Given the description of an element on the screen output the (x, y) to click on. 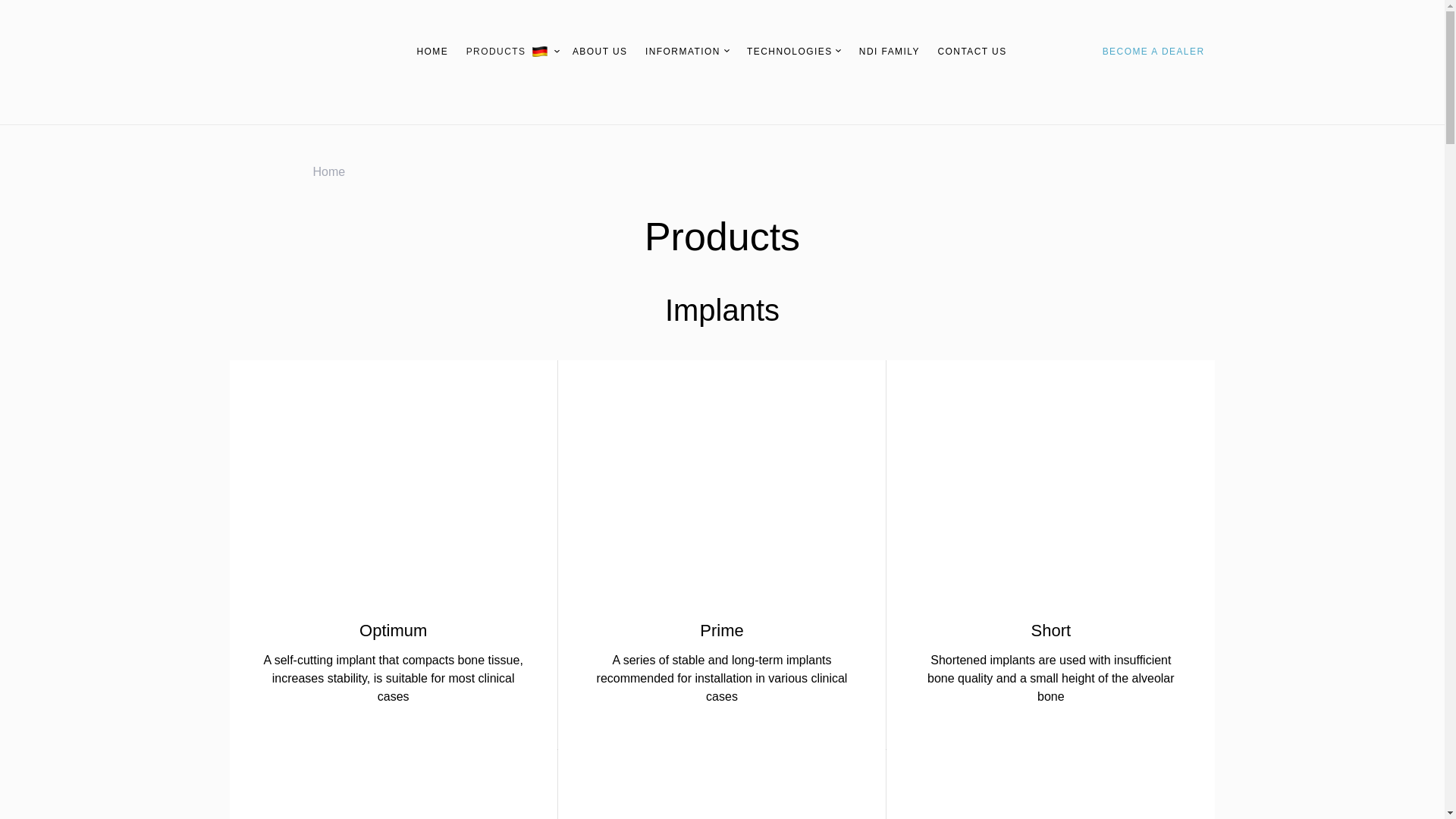
CONTACT US (971, 51)
TECHNOLOGIES (793, 51)
HOME (431, 51)
ABOUT US (600, 51)
BECOME A DEALER (1153, 51)
NDI FAMILY (888, 51)
Products (504, 51)
INFORMATION (687, 51)
Home (431, 51)
PRODUCTS (504, 51)
